Given the description of an element on the screen output the (x, y) to click on. 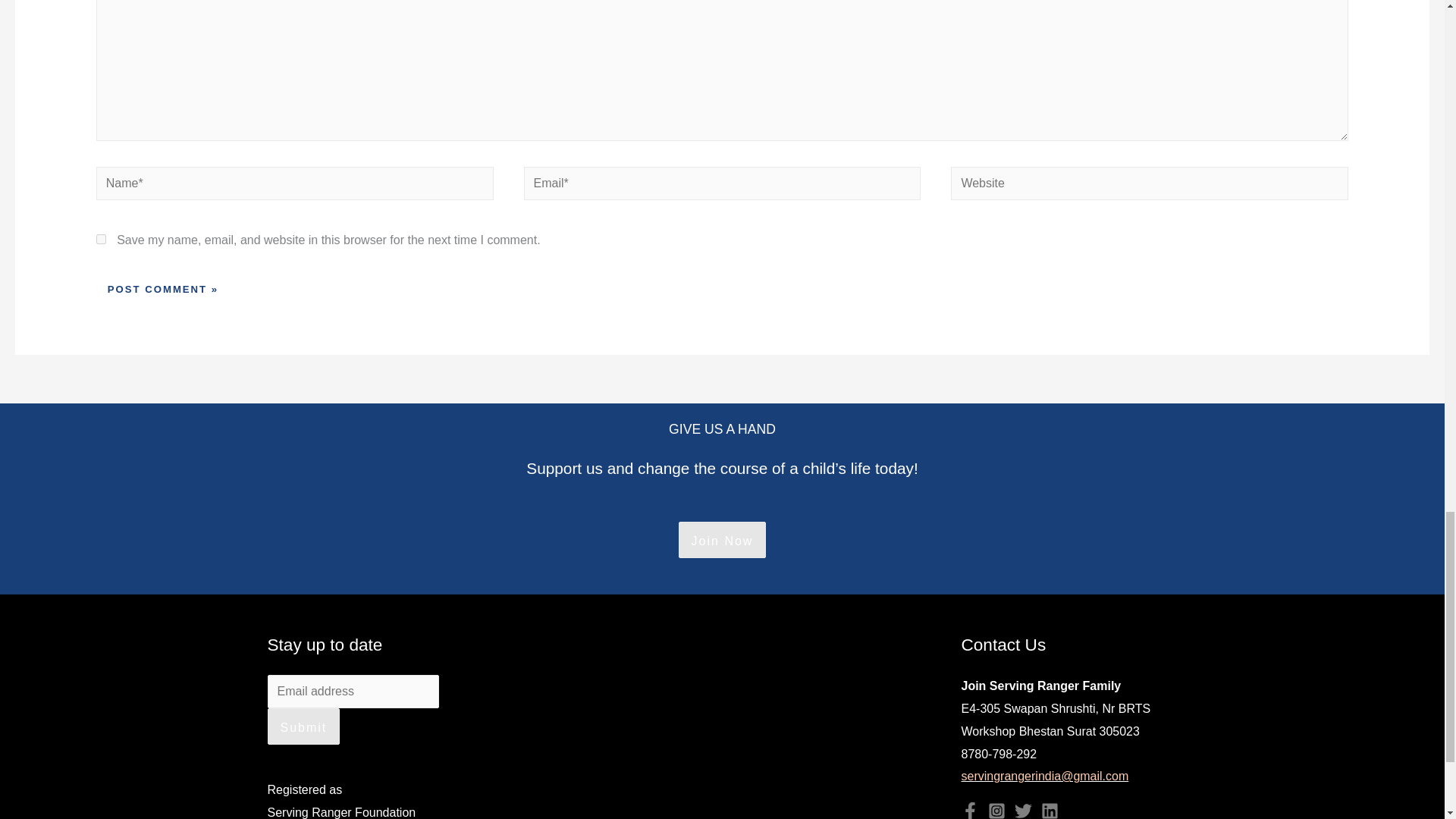
Join Now (722, 539)
yes (101, 239)
Join Now (722, 540)
Submit (302, 726)
